Given the description of an element on the screen output the (x, y) to click on. 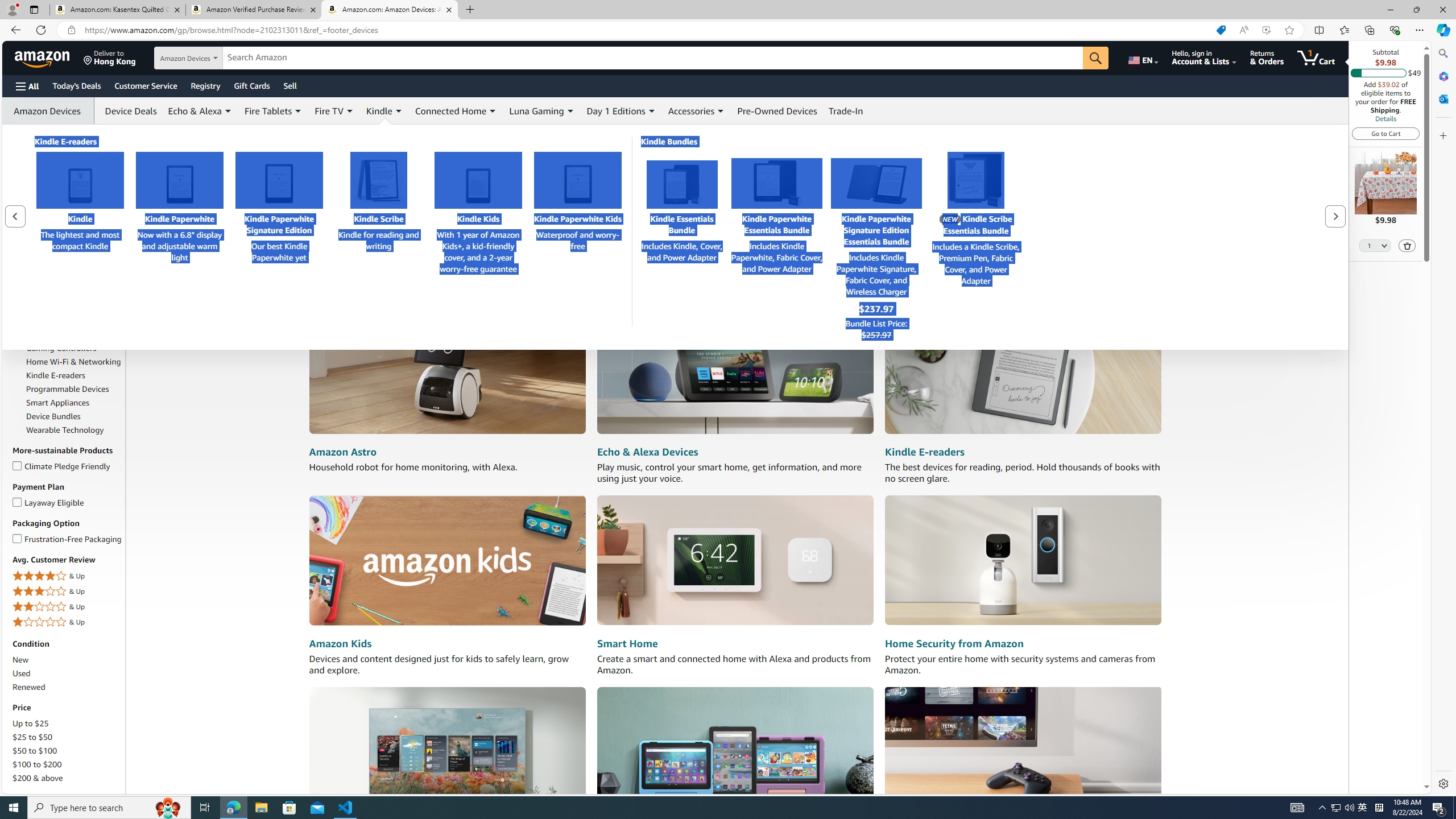
Returns & Orders (1266, 57)
Pre-Owned Devices (776, 110)
Watch now (438, 208)
Layaway EligibleLayaway Eligible (67, 502)
$200 & above (37, 777)
Frustration-Free Packaging Frustration-Free Packaging (67, 538)
Details (1385, 118)
Luna Gaming (536, 110)
Connected Home (450, 110)
Fire Tablet devices (734, 751)
Search Amazon (652, 57)
Amazon Devices (67, 242)
